Given the description of an element on the screen output the (x, y) to click on. 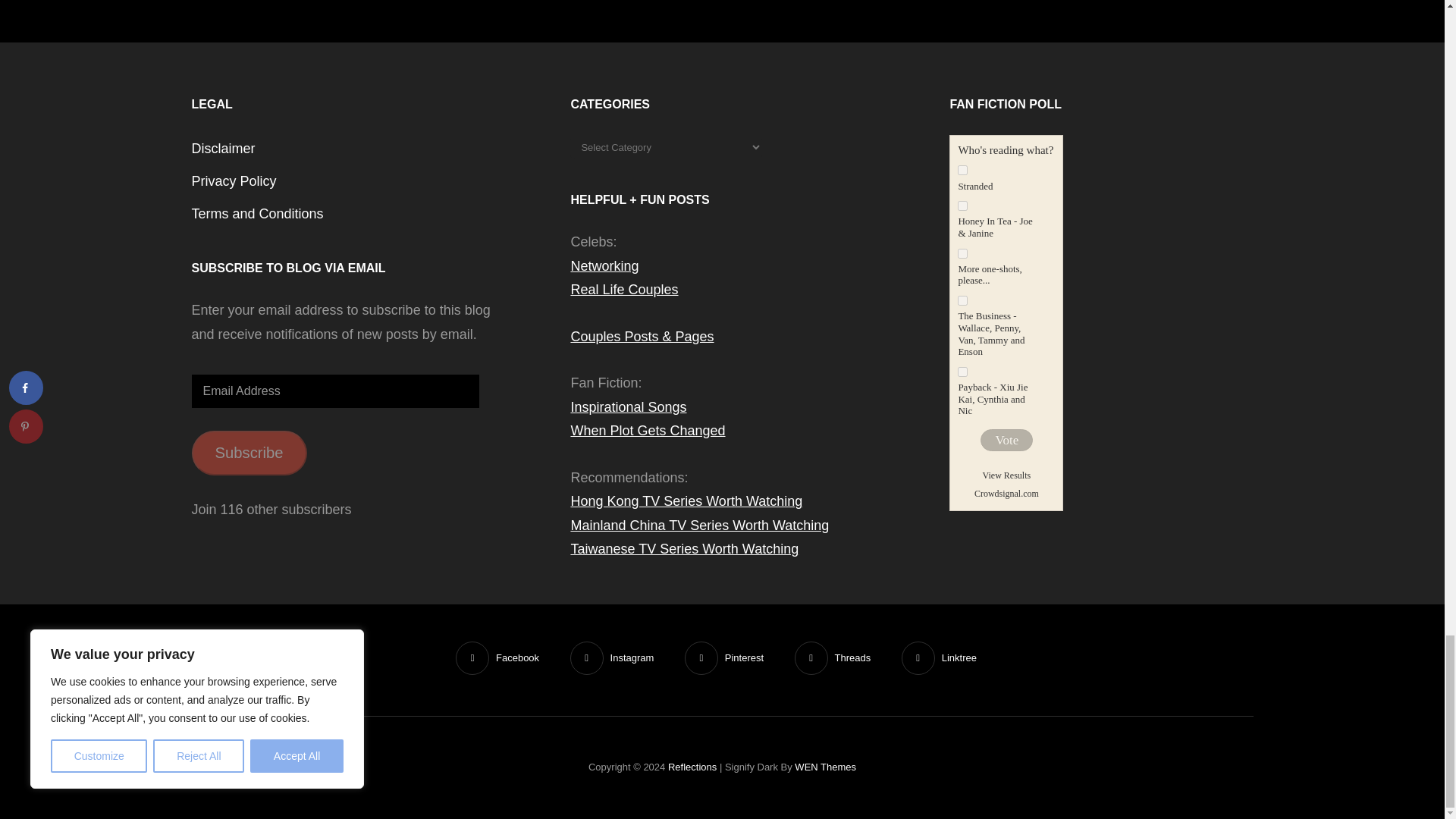
36806373 (963, 170)
23846120 (963, 253)
26941973 (963, 205)
37562296 (963, 300)
23846114 (963, 371)
